Given the description of an element on the screen output the (x, y) to click on. 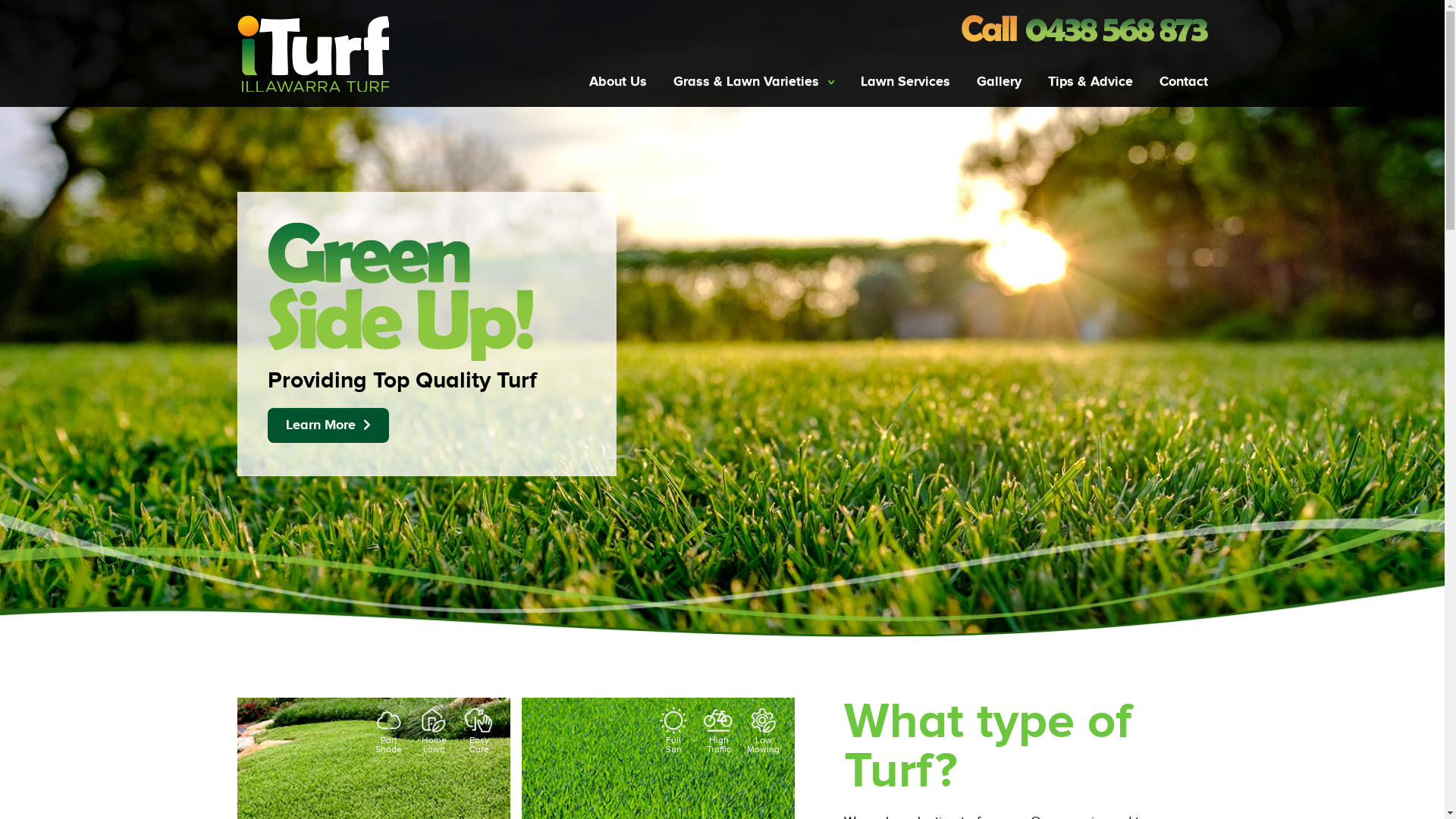
Tips & Advice Element type: text (1090, 82)
Gallery Element type: text (998, 82)
call 0438 568 873 Element type: hover (1084, 28)
Contact Element type: text (1175, 82)
Learn More Element type: text (327, 424)
Lawn Services Element type: text (904, 82)
About Us Element type: text (624, 82)
Grass & Lawn Varieties Element type: text (753, 82)
